Given the description of an element on the screen output the (x, y) to click on. 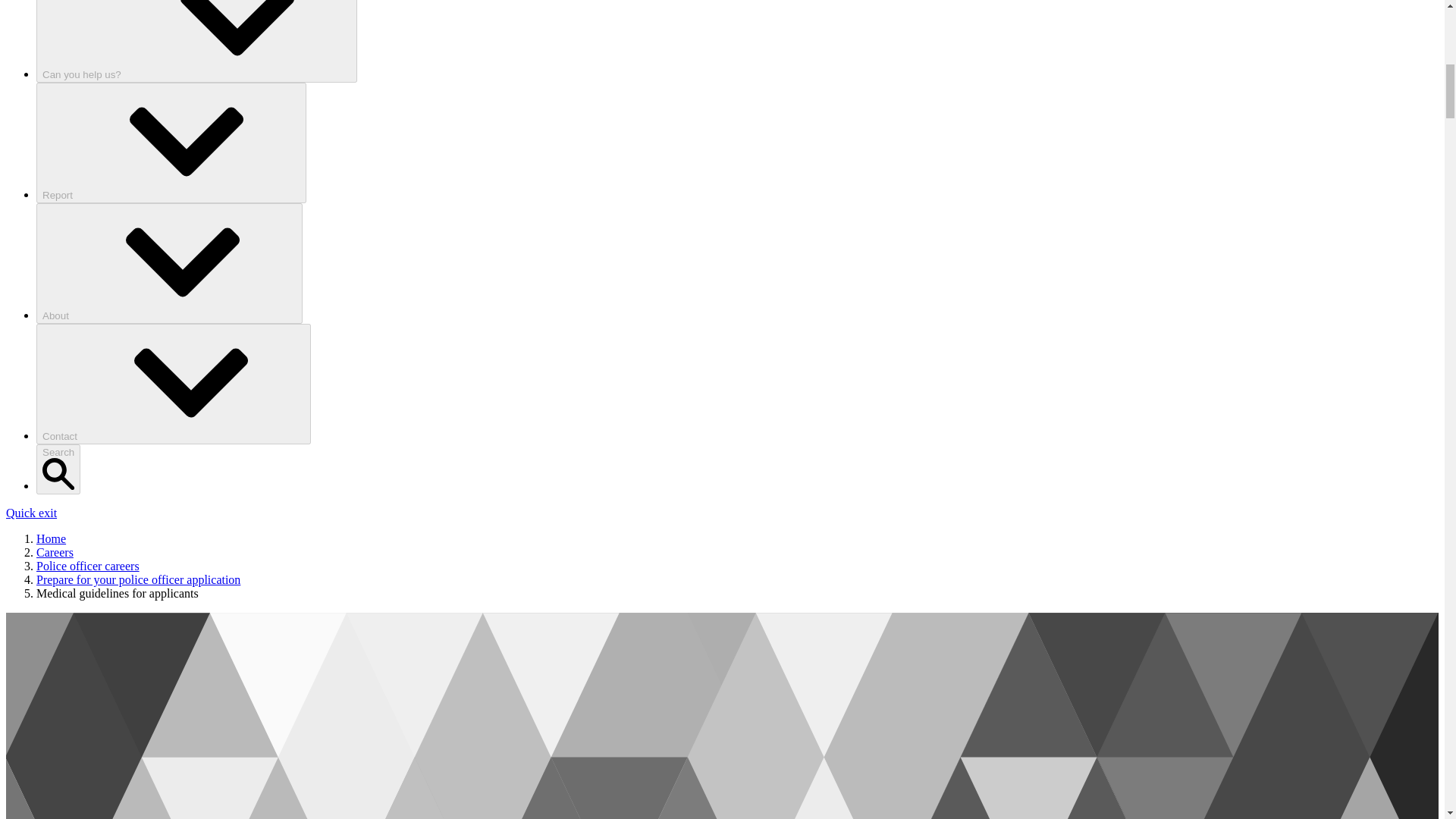
Home (50, 538)
Quick exit (30, 512)
Prepare for your police officer application (138, 579)
Police officer careers (87, 565)
Careers (55, 552)
